Given the description of an element on the screen output the (x, y) to click on. 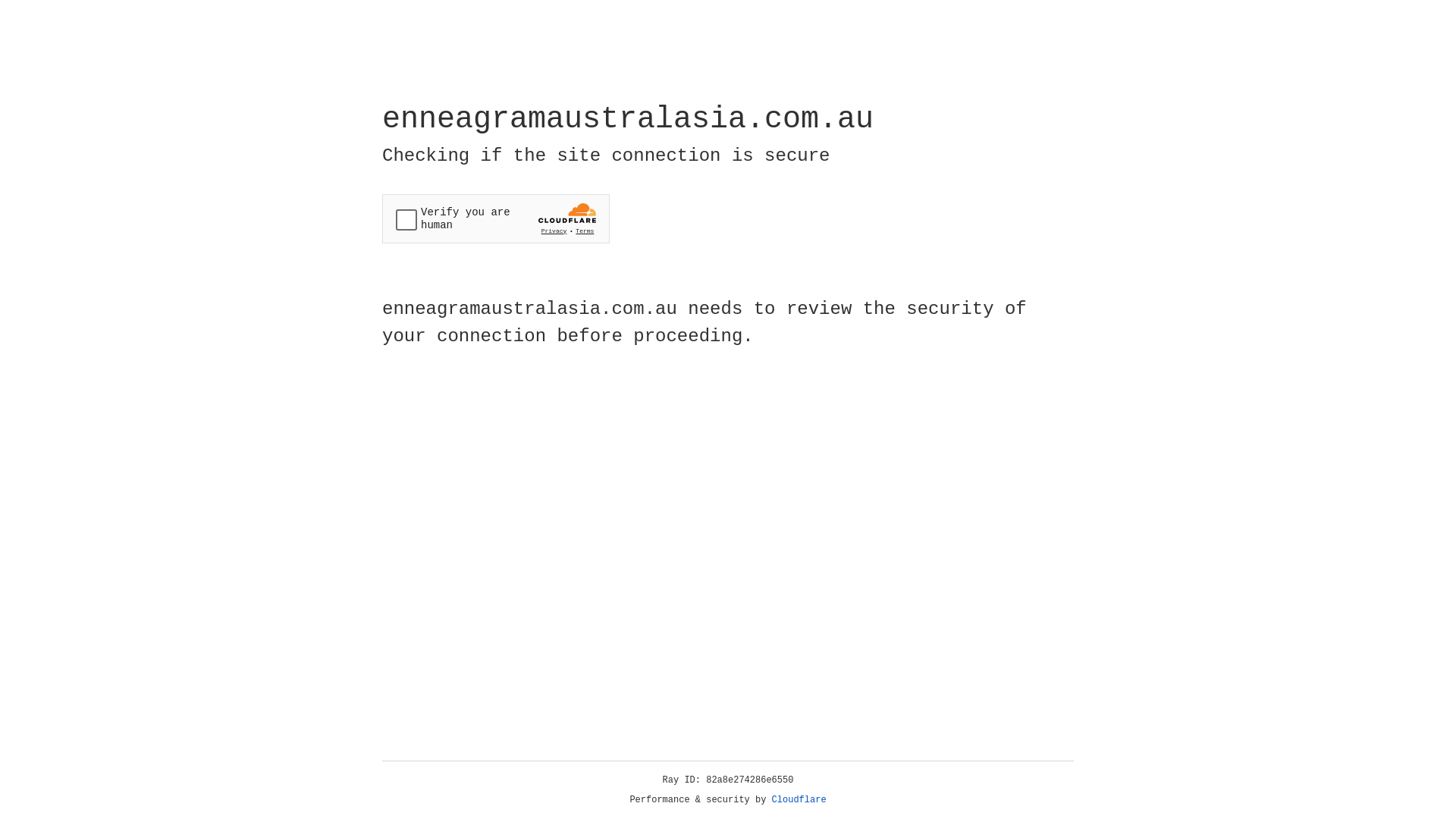
Cloudflare Element type: text (798, 799)
Widget containing a Cloudflare security challenge Element type: hover (495, 218)
